Given the description of an element on the screen output the (x, y) to click on. 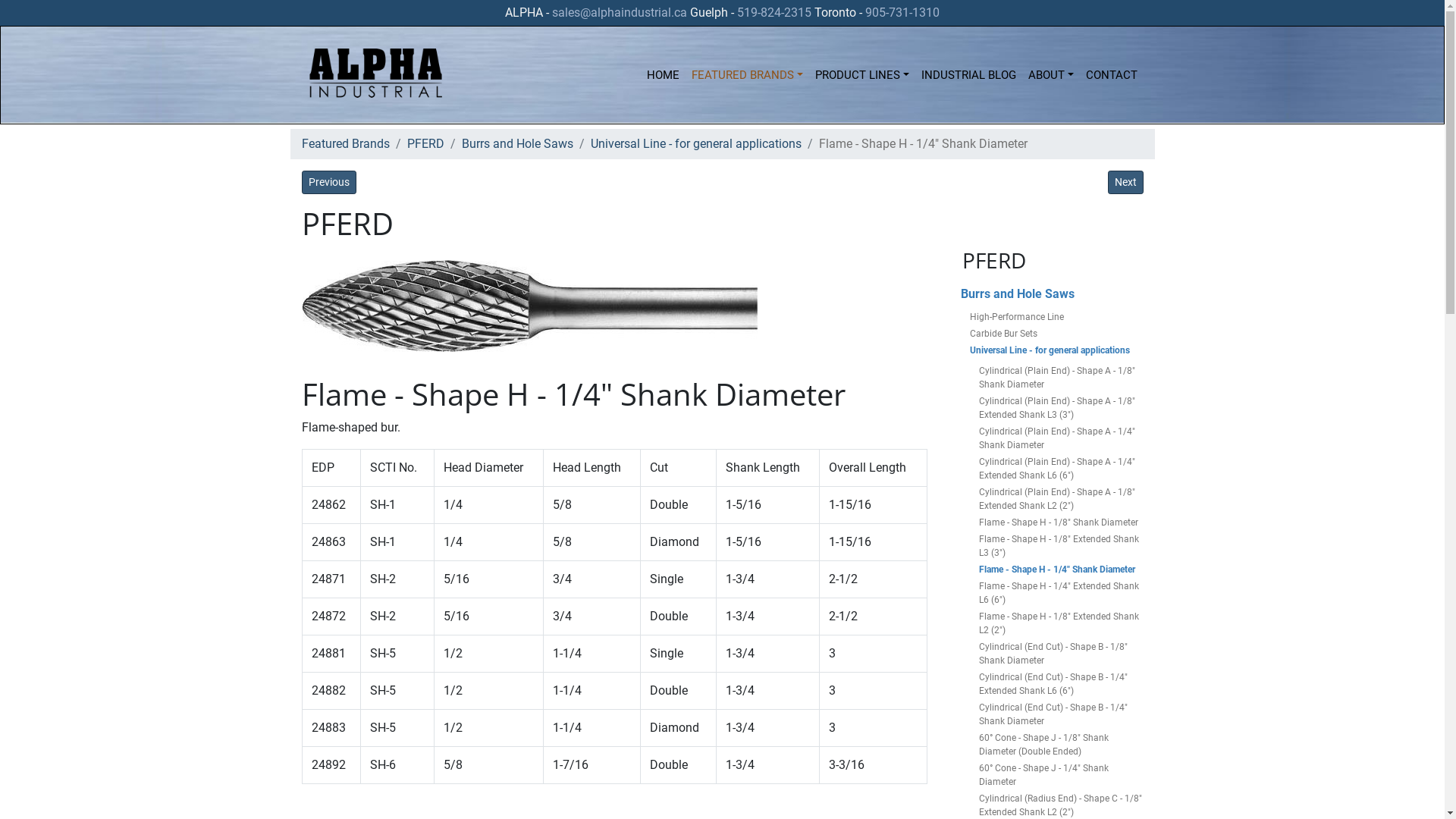
Burrs and Hole Saws Element type: text (516, 143)
Cylindrical (End Cut) - Shape B - 1/8" Shank Diameter Element type: text (1059, 653)
ABOUT Element type: text (1050, 75)
HOME Element type: text (662, 75)
High-Performance Line Element type: text (1054, 316)
Flame - Shape H - 1/8" Extended Shank L3 (3") Element type: text (1059, 545)
Carbide Bur Sets Element type: text (1054, 333)
Cylindrical (End Cut) - Shape B - 1/4" Shank Diameter Element type: text (1059, 714)
PRODUCT LINES Element type: text (862, 75)
CONTACT Element type: text (1111, 75)
Featured Brands Element type: text (345, 143)
Flame - Shape H - 1/4" Shank Diameter Element type: text (1059, 569)
905-731-1310 Element type: text (902, 12)
sales@alphaindustrial.ca Element type: text (619, 12)
FEATURED BRANDS Element type: text (747, 75)
PFERD Element type: text (424, 143)
519-824-2315 Element type: text (774, 12)
Flame - Shape H - 1/8" Extended Shank L2 (2") Element type: text (1059, 623)
Cylindrical (Plain End) - Shape A - 1/8" Shank Diameter Element type: text (1059, 377)
Cylindrical (Plain End) - Shape A - 1/4" Shank Diameter Element type: text (1059, 438)
Flame - Shape H - 1/8" Shank Diameter Element type: text (1059, 522)
Burrs and Hole Saws Element type: text (1050, 293)
Universal Line - for general applications Element type: text (694, 143)
INDUSTRIAL BLOG Element type: text (968, 75)
Universal Line - for general applications Element type: text (1054, 350)
Flame - Shape H - 1/4" Extended Shank L6 (6") Element type: text (1059, 592)
Previous Element type: text (328, 182)
Next Element type: text (1124, 182)
